Given the description of an element on the screen output the (x, y) to click on. 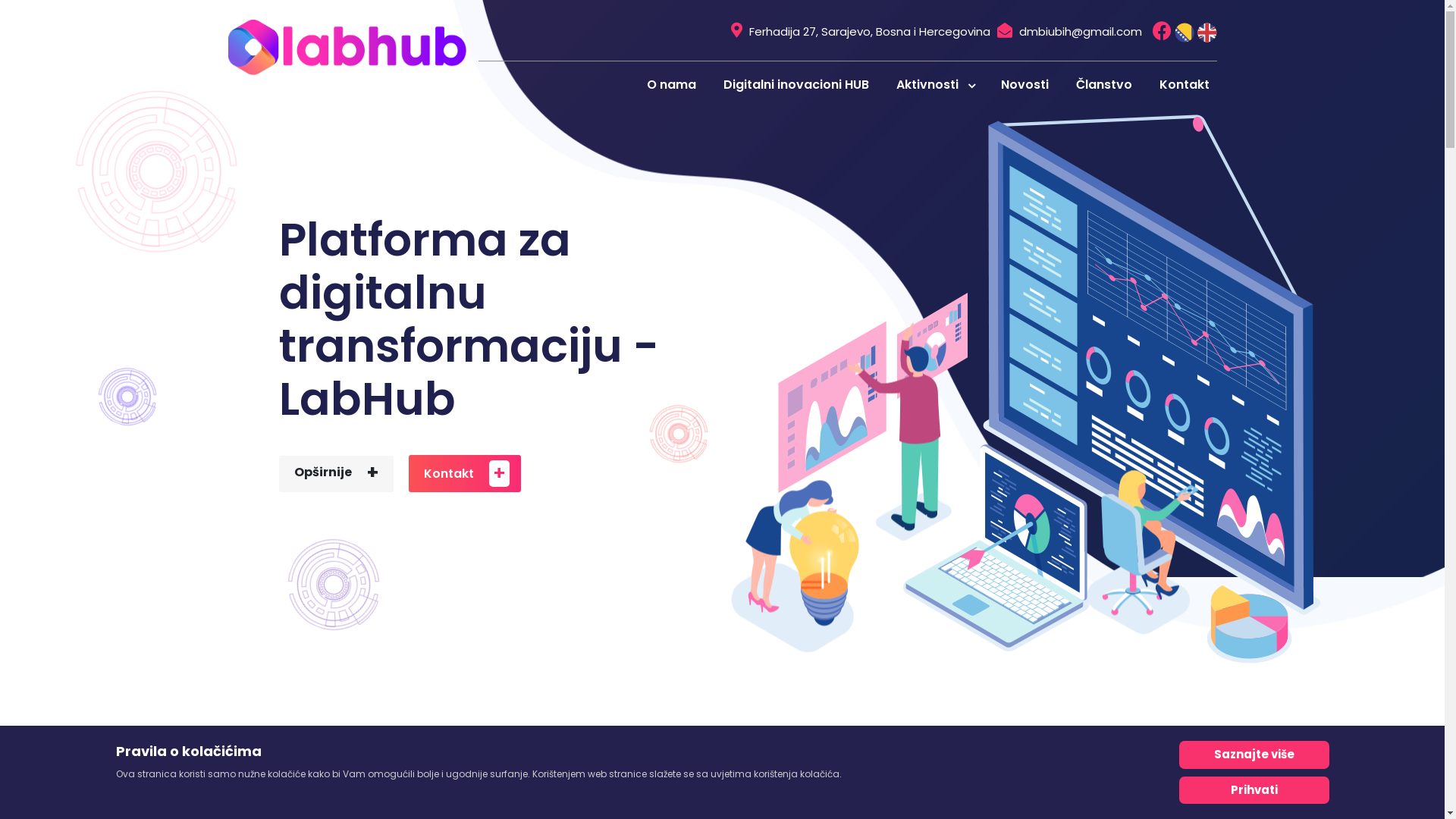
Aktivnosti Element type: text (934, 83)
Digitalni inovacioni HUB Element type: text (795, 83)
Kontakt Element type: text (1183, 83)
O nama Element type: text (670, 83)
Novosti Element type: text (1024, 83)
Prihvati Element type: text (1253, 790)
Kontakt+ Element type: text (463, 473)
